Given the description of an element on the screen output the (x, y) to click on. 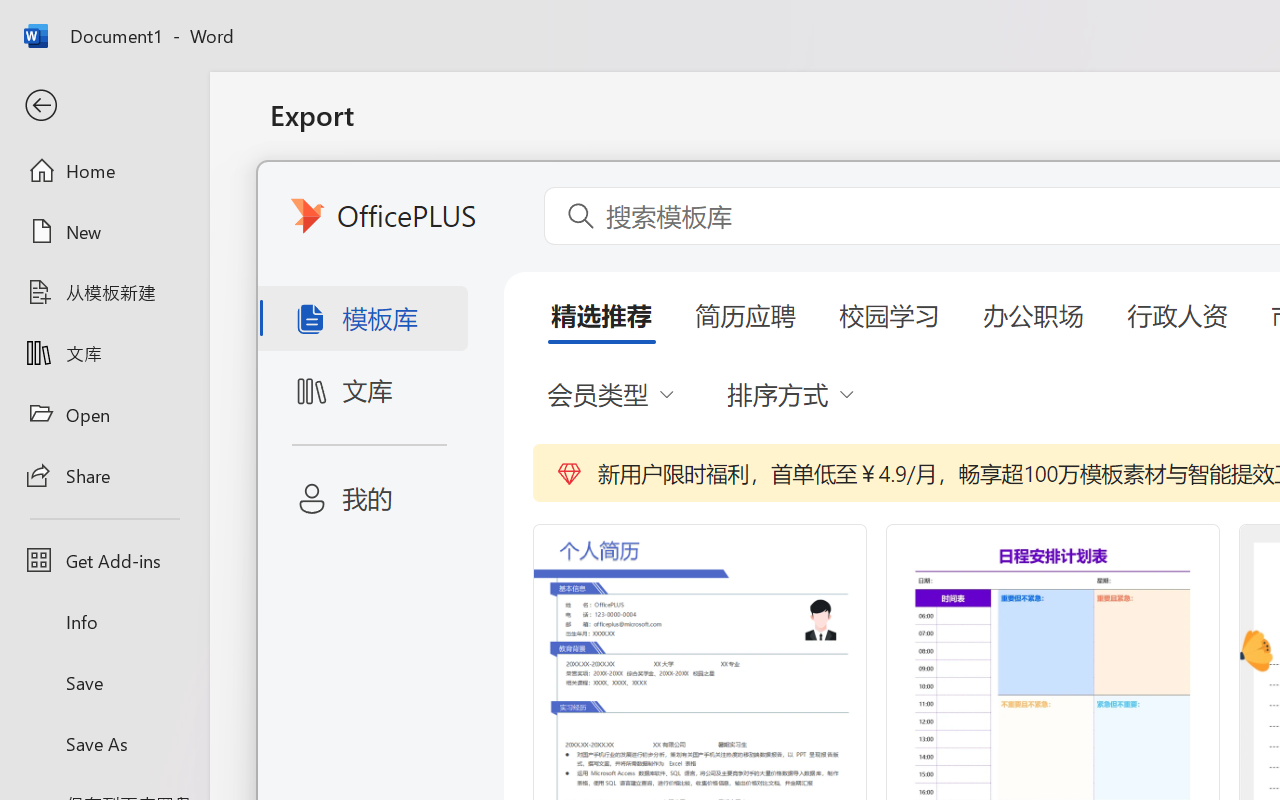
New (104, 231)
Create PDF/XPS Document (507, 205)
Info (104, 621)
Create PDF/XPS (858, 399)
Change File Type (507, 291)
